Given the description of an element on the screen output the (x, y) to click on. 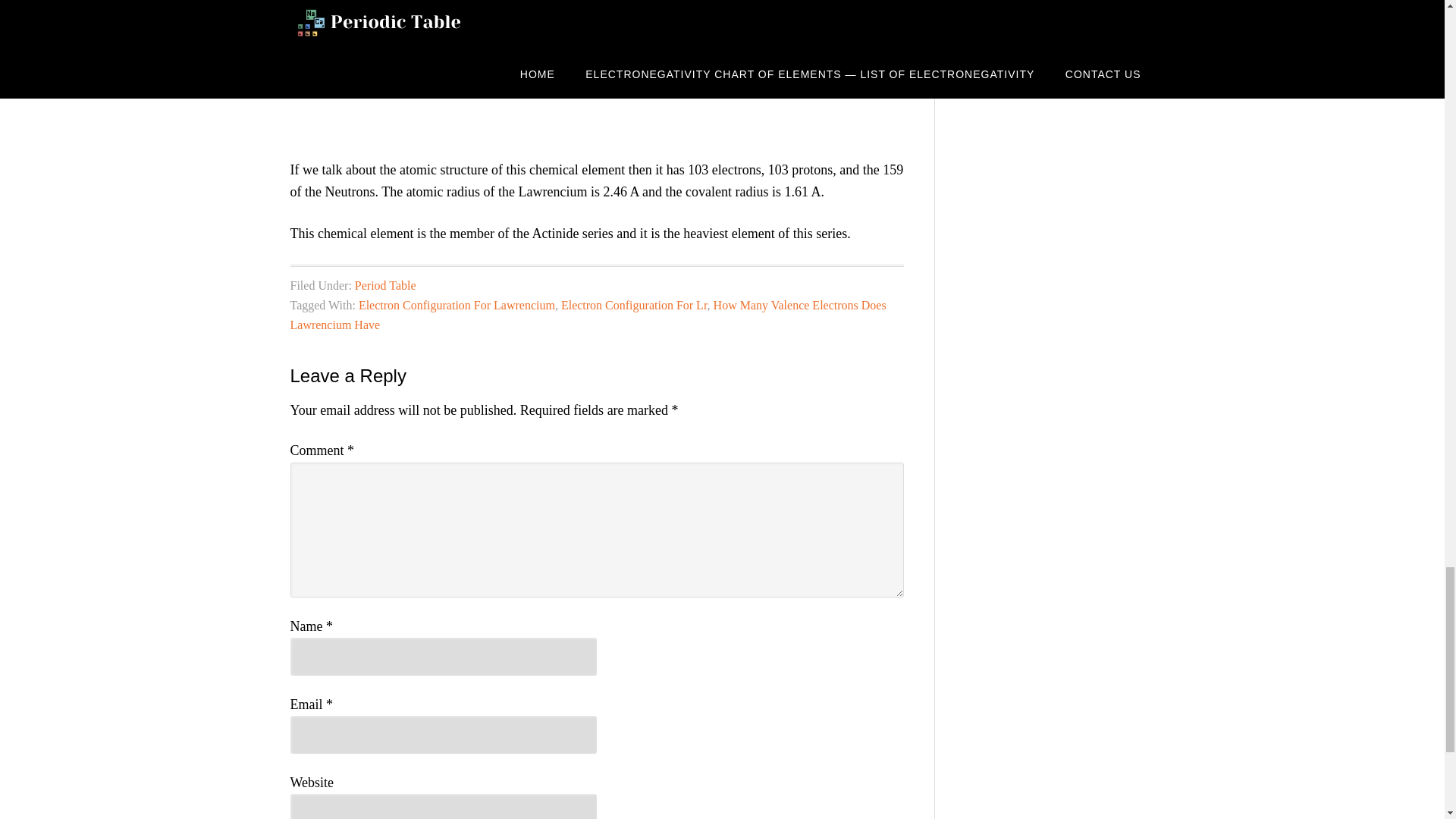
Electron Configuration For Lawrencium (456, 305)
Electron Configuration For Lr (633, 305)
Period Table (385, 285)
How Many Valence Electrons Does Lawrencium Have (587, 314)
